Given the description of an element on the screen output the (x, y) to click on. 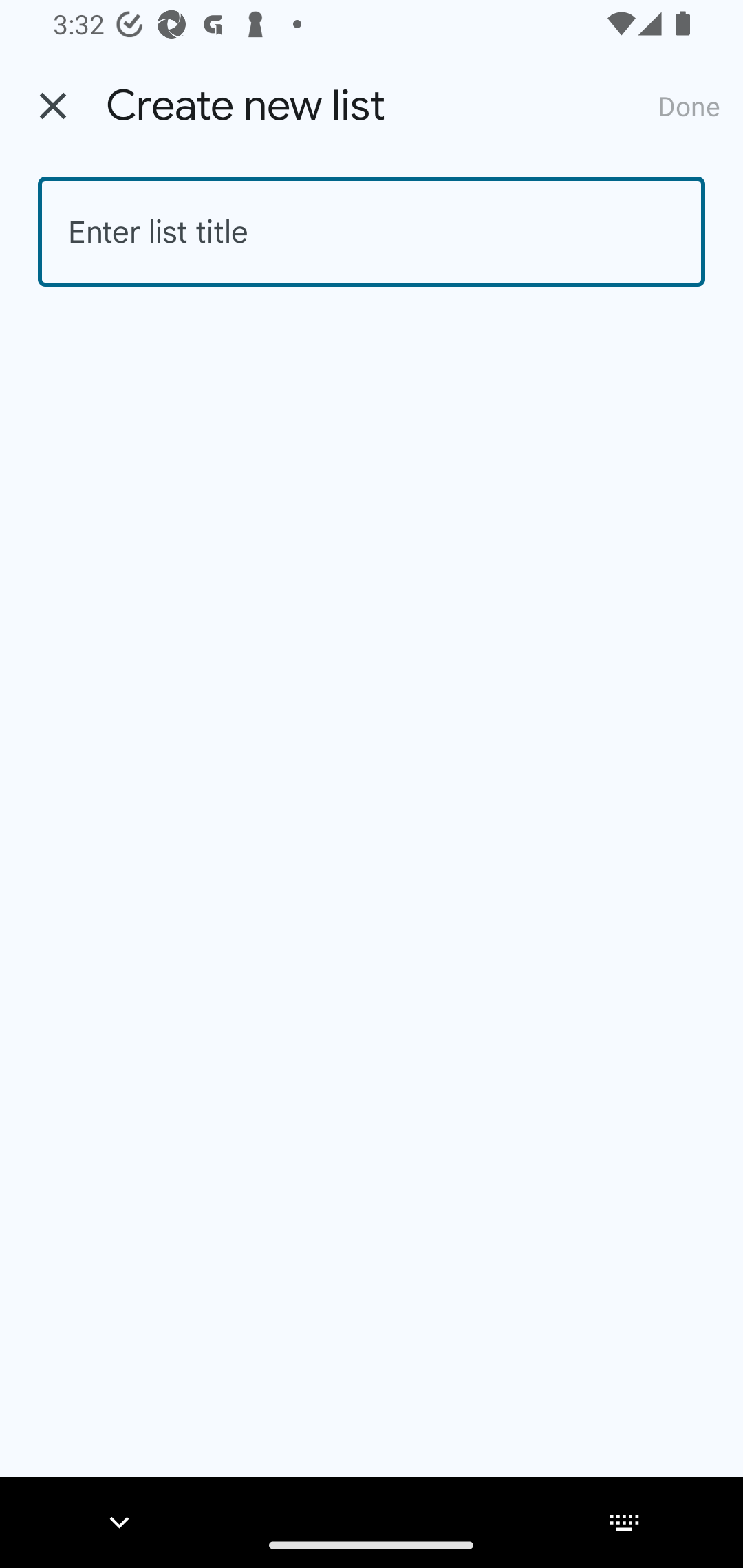
Back (53, 105)
Done (689, 105)
Enter list title (371, 231)
